Given the description of an element on the screen output the (x, y) to click on. 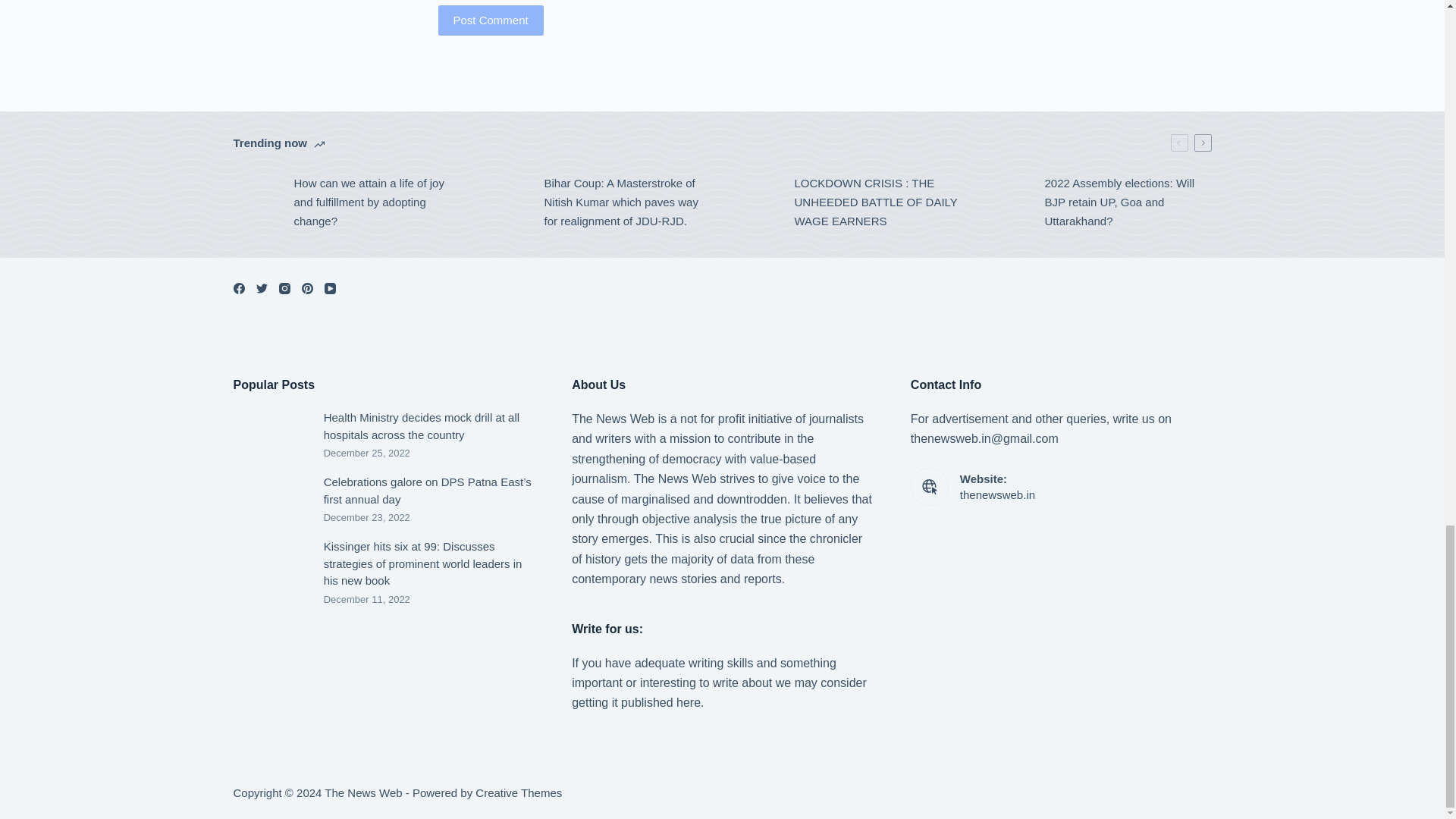
Post Comment (490, 20)
thenewsweb.in (997, 494)
LOCKDOWN CRISIS : THE UNHEEDED BATTLE OF DAILY WAGE EARNERS (846, 202)
